Given the description of an element on the screen output the (x, y) to click on. 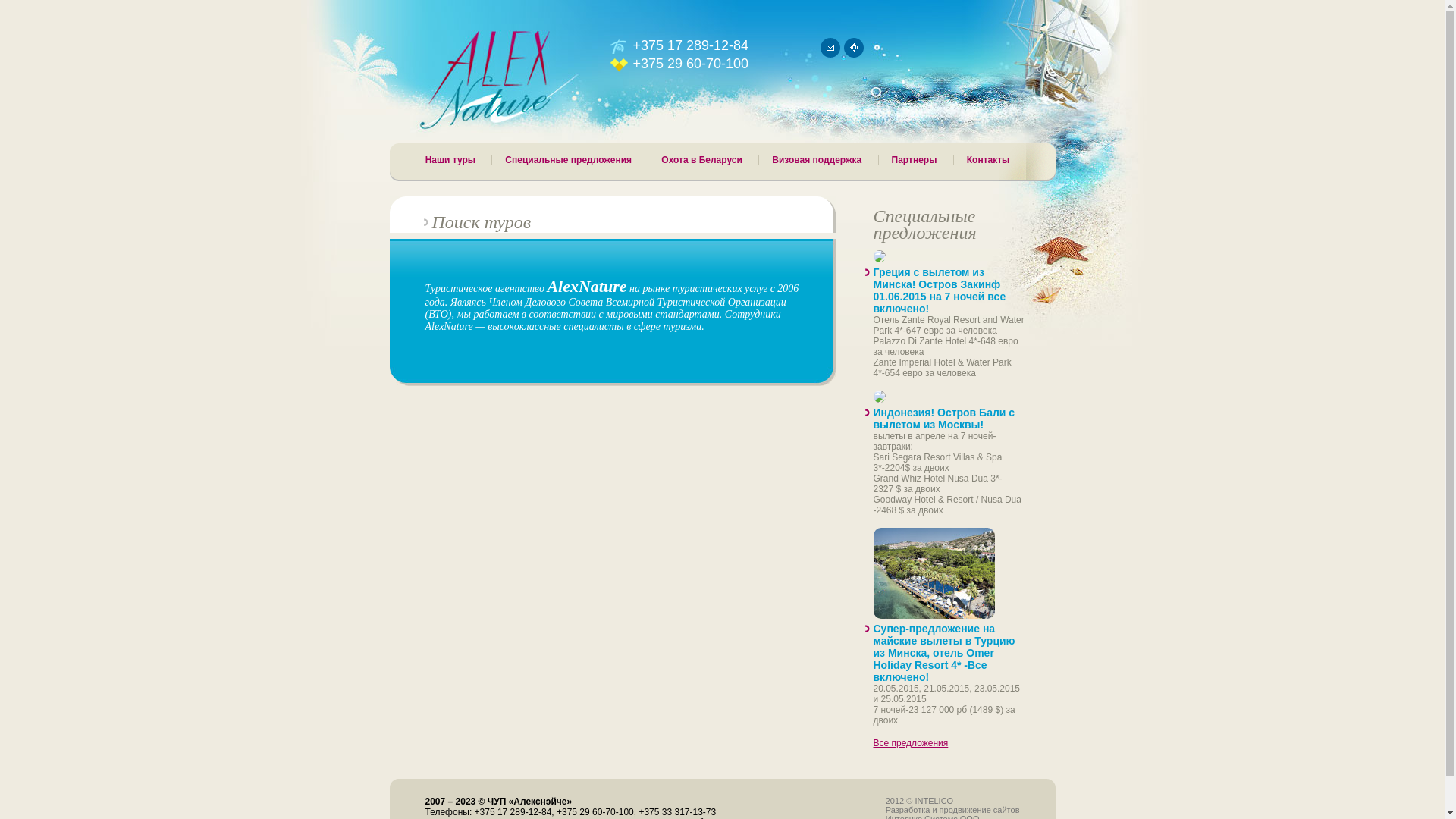
INTELICO Element type: text (933, 800)
